Given the description of an element on the screen output the (x, y) to click on. 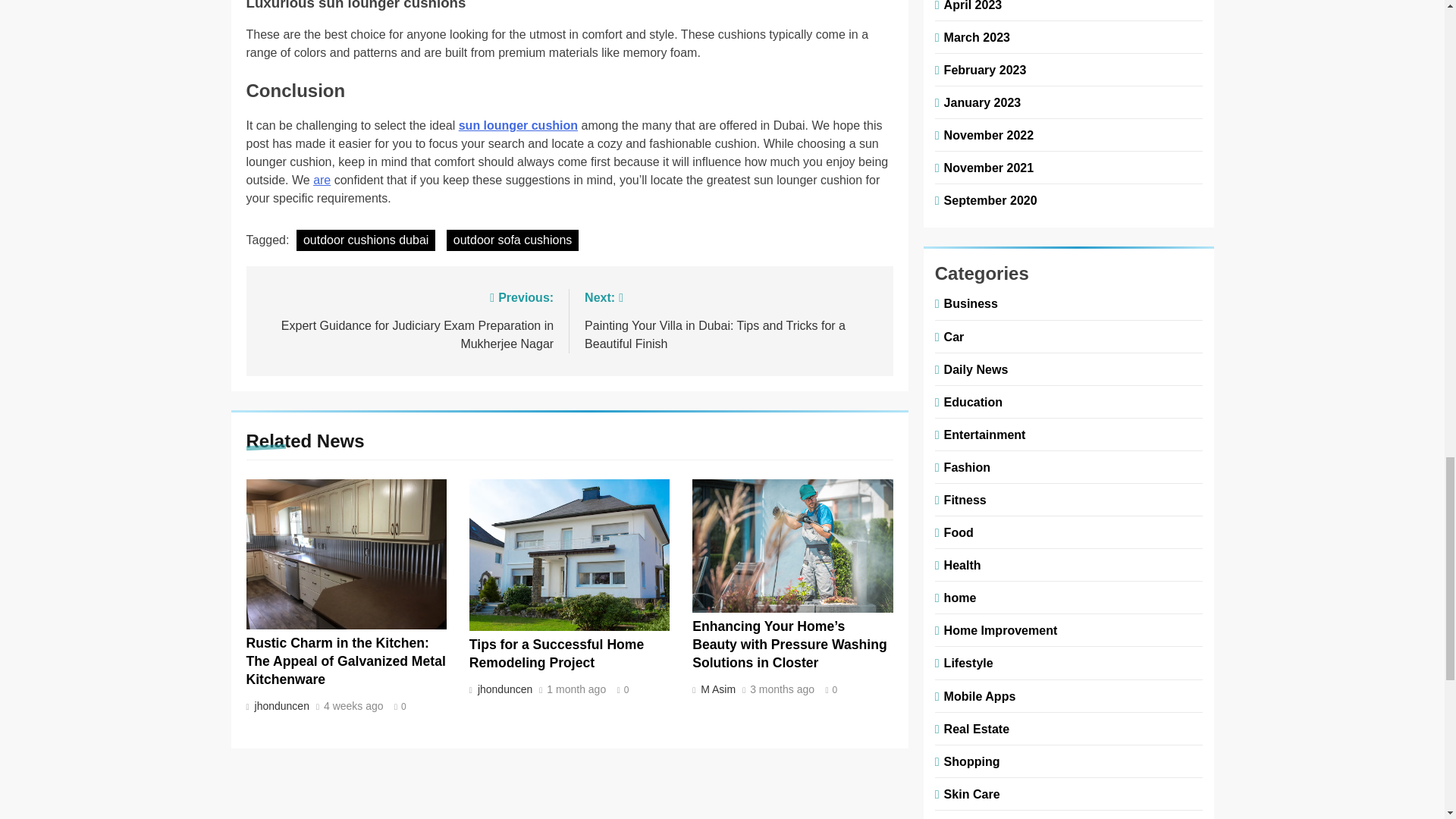
sun lounger cushion (518, 124)
outdoor sofa cushions (512, 240)
jhonduncen (280, 705)
are (321, 179)
outdoor cushions dubai (366, 240)
